Given the description of an element on the screen output the (x, y) to click on. 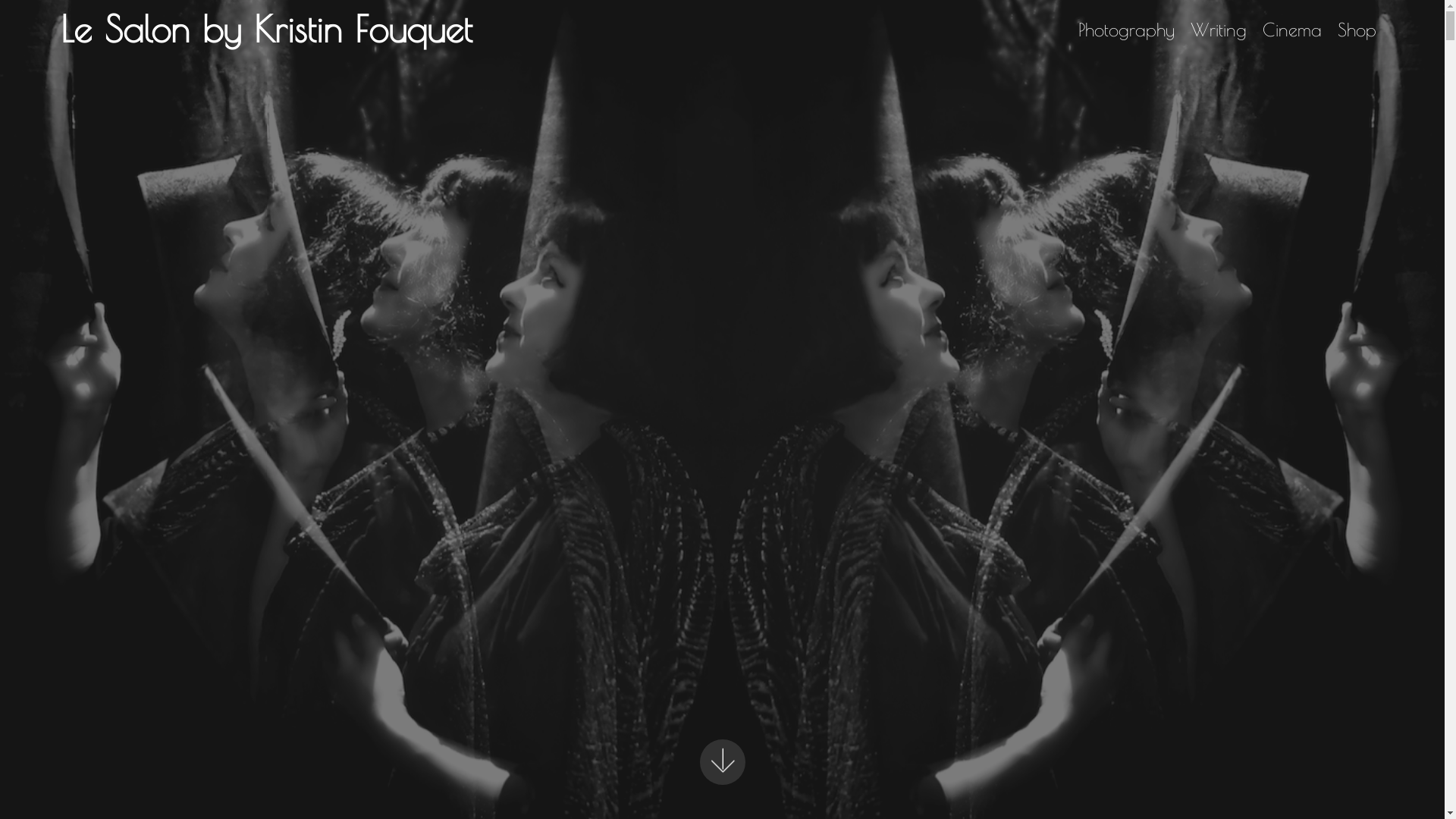
Photography Element type: text (1126, 28)
Shop Element type: text (1356, 28)
Le Salon by Kristin Fouquet Element type: text (278, 28)
Writing Element type: text (1218, 28)
Cinema Element type: text (1291, 28)
